Given the description of an element on the screen output the (x, y) to click on. 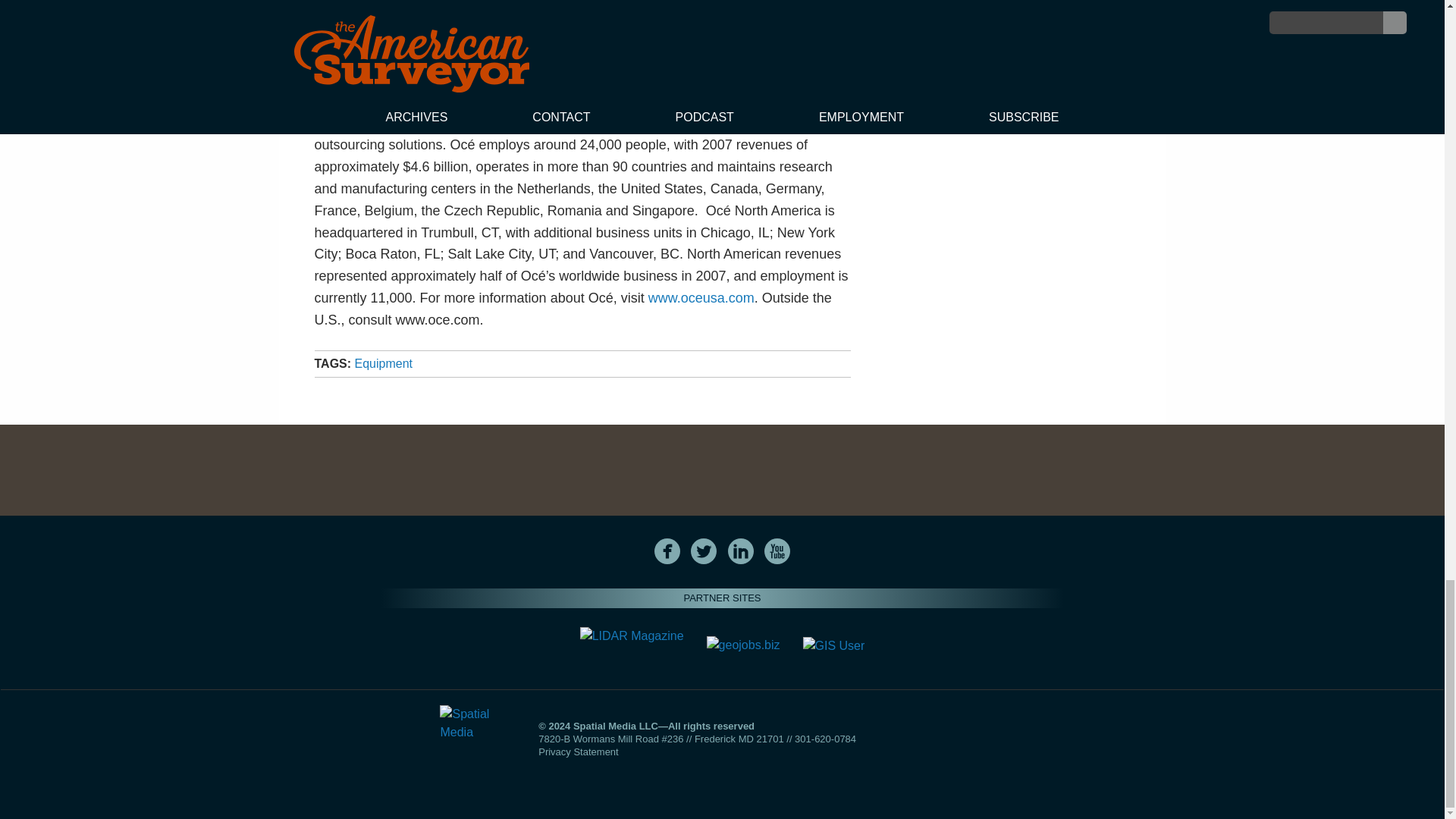
www.oceusa.com (700, 297)
icon-sm-linkedin (741, 551)
Privacy Statement (578, 751)
icon-sm-fb (667, 551)
icon-sm-fb (666, 551)
icon-sm-twitter (703, 551)
icon-sm-youtube (777, 551)
icon-sm-youtube (776, 551)
Equipment (384, 363)
icon-sm-linkedin (740, 551)
icon-sm-twitter (703, 551)
